Given the description of an element on the screen output the (x, y) to click on. 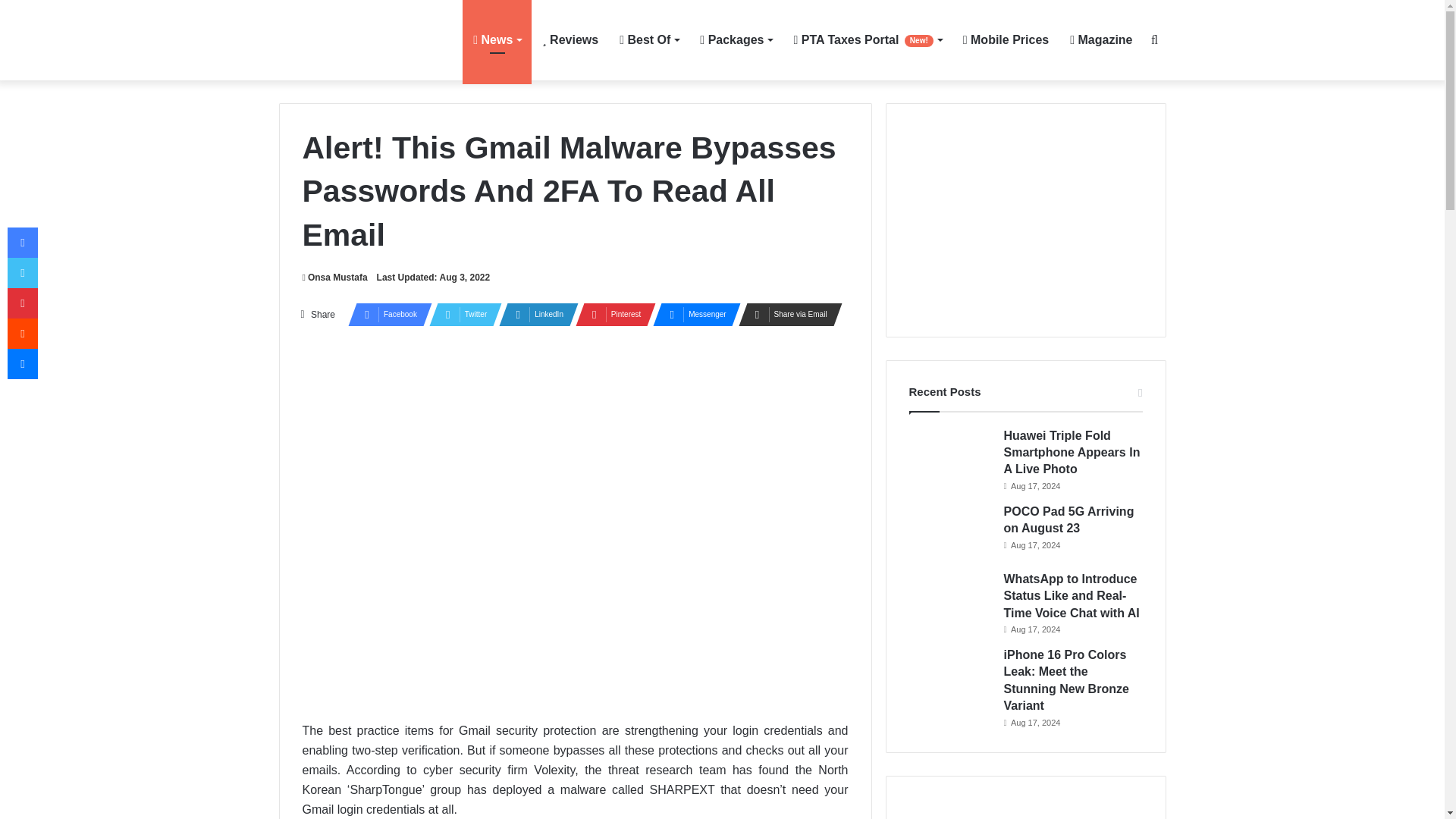
Onsa Mustafa (333, 276)
Messenger (692, 314)
PTA Taxes Portal New! (867, 40)
Packages (735, 40)
Magazine (1100, 40)
Mobile Prices (1005, 40)
LinkedIn (534, 314)
Best Of (648, 40)
Share via Email (785, 314)
Pinterest (610, 314)
